Given the description of an element on the screen output the (x, y) to click on. 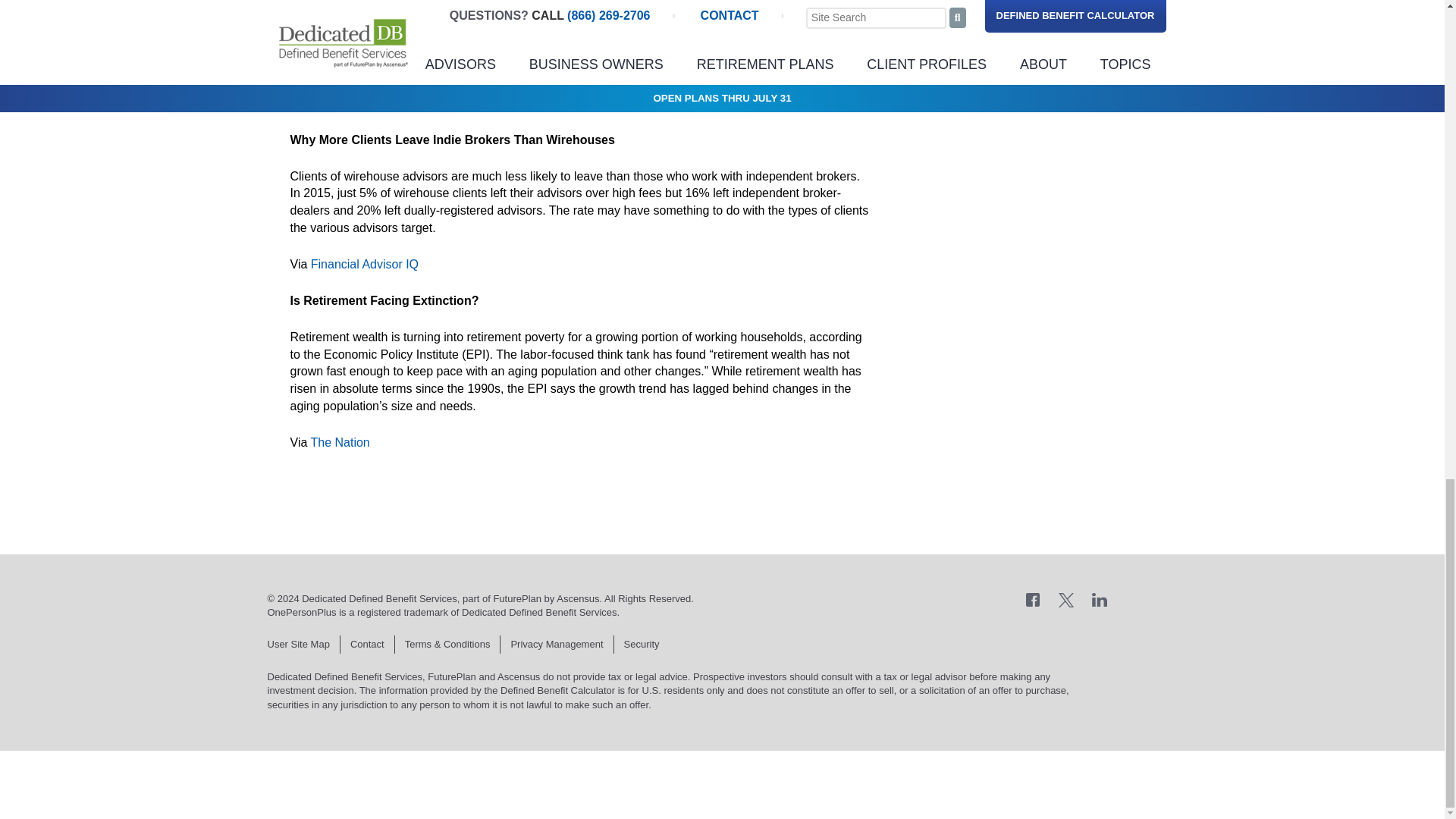
Join us on Facebook (1033, 598)
Connect with us on LinkedIn (1099, 598)
Tweet us on Twitter (1066, 598)
